Given the description of an element on the screen output the (x, y) to click on. 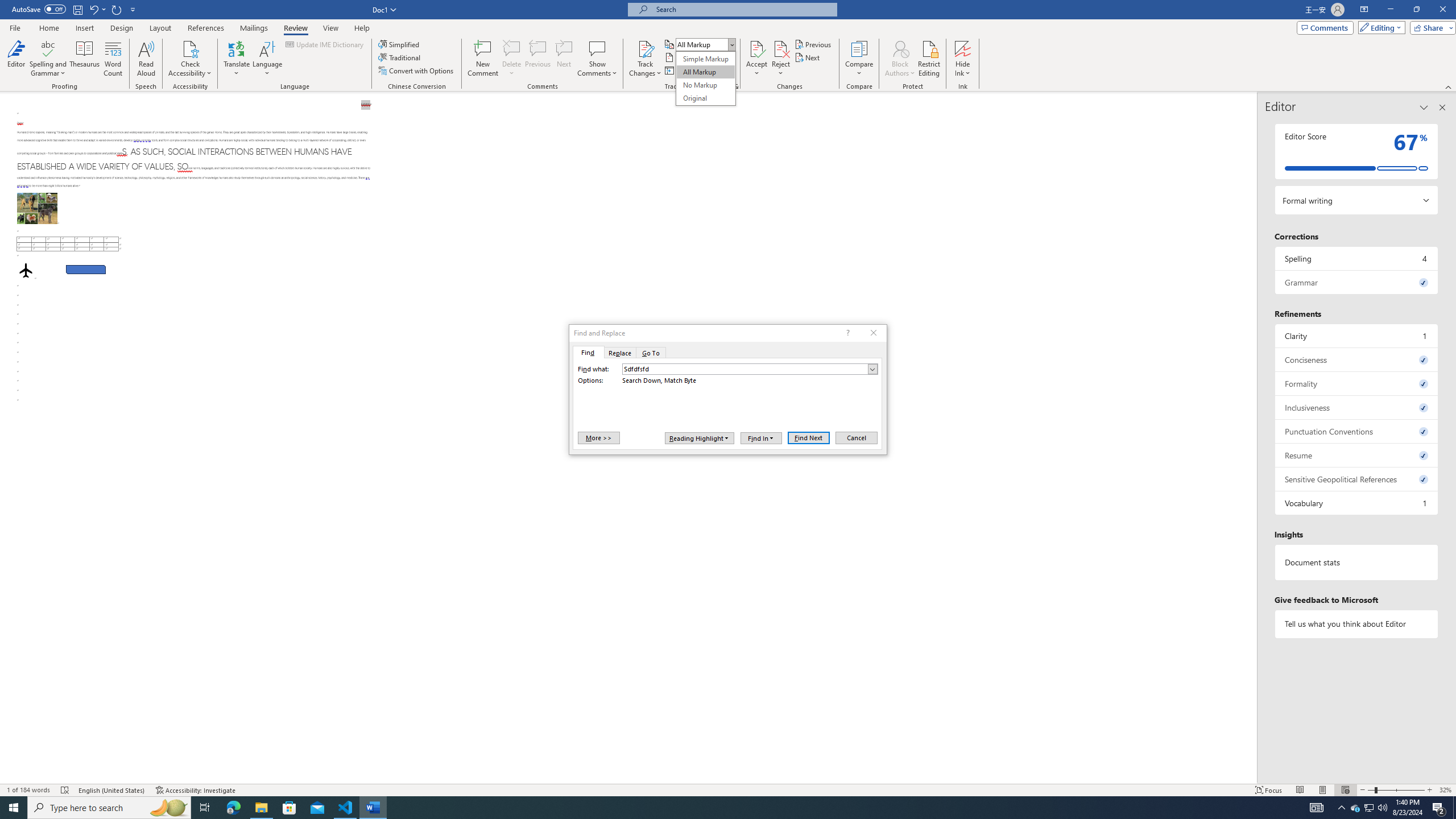
&Display for Review (705, 77)
Search highlights icon opens search home window (167, 807)
MSO Generic Control Container (699, 437)
Notification Chevron (1341, 807)
Find Next (808, 437)
Start (13, 807)
Go To (651, 352)
Find In (761, 437)
Word - 1 running window (373, 807)
Action Center, 2 new notifications (1439, 807)
Replace (1368, 807)
Cancel (619, 352)
